Given the description of an element on the screen output the (x, y) to click on. 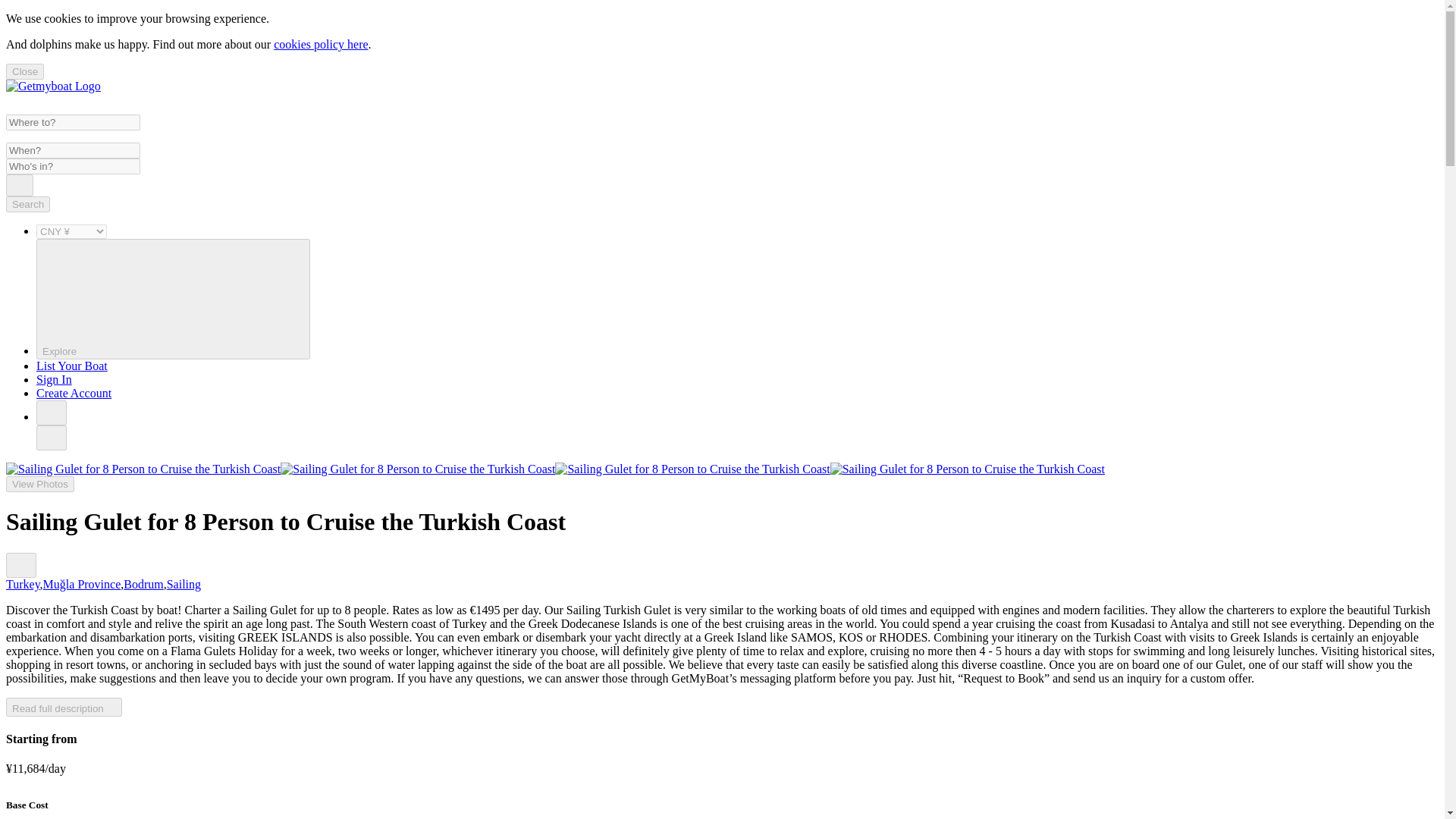
Sailing (183, 584)
Explore (173, 299)
Create Account (74, 392)
Bodrum (143, 584)
Read full description (63, 706)
cookies policy here (320, 43)
View Photos (39, 483)
Search (27, 204)
Turkey (22, 584)
Search (19, 185)
Sign In (53, 379)
List Your Boat (71, 365)
Close (24, 71)
